Given the description of an element on the screen output the (x, y) to click on. 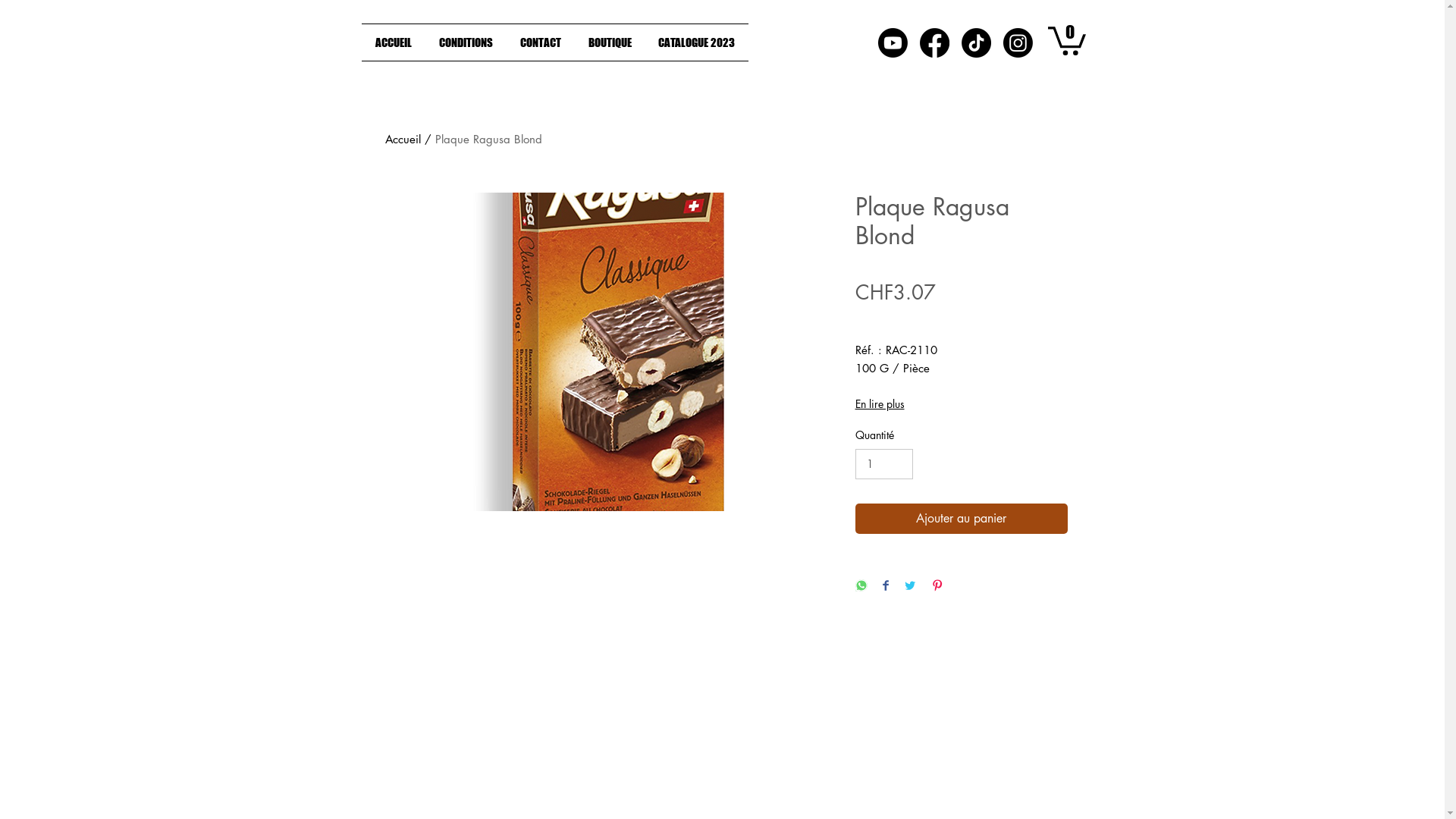
CONDITIONS Element type: text (464, 42)
Livraison CH offerte Element type: text (900, 318)
Plaque Ragusa Blond Element type: text (488, 138)
BOUTIQUE Element type: text (609, 42)
Accueil Element type: text (402, 138)
CATALOGUE 2023 Element type: text (695, 42)
Ajouter au panier Element type: text (961, 518)
ACCUEIL Element type: text (392, 42)
0 Element type: text (1066, 39)
En lire plus Element type: text (961, 403)
CONTACT Element type: text (540, 42)
